Given the description of an element on the screen output the (x, y) to click on. 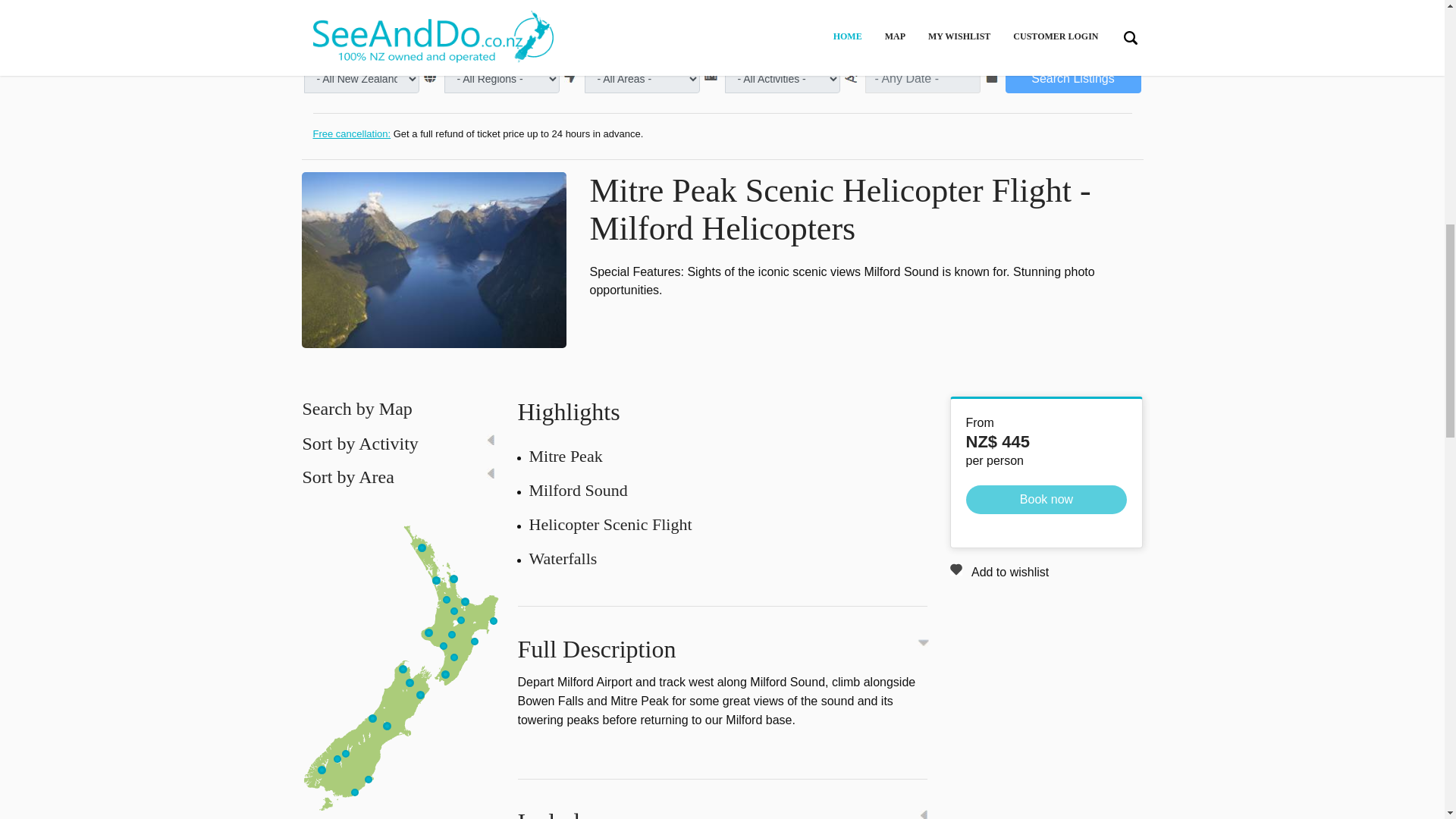
Bay of Plenty Area (465, 601)
Milford Sound (537, 13)
Taranaki (429, 632)
Wanganui (442, 646)
Search by Map (356, 408)
Palmerston North (454, 657)
Northland Area (421, 547)
Fiordland (462, 13)
Taupo (457, 615)
Free cancellation: (351, 133)
Nelson (410, 682)
Auckland Area (436, 579)
Wellington Area (445, 674)
Abel Tasman (403, 669)
Canterbury (387, 725)
